Given the description of an element on the screen output the (x, y) to click on. 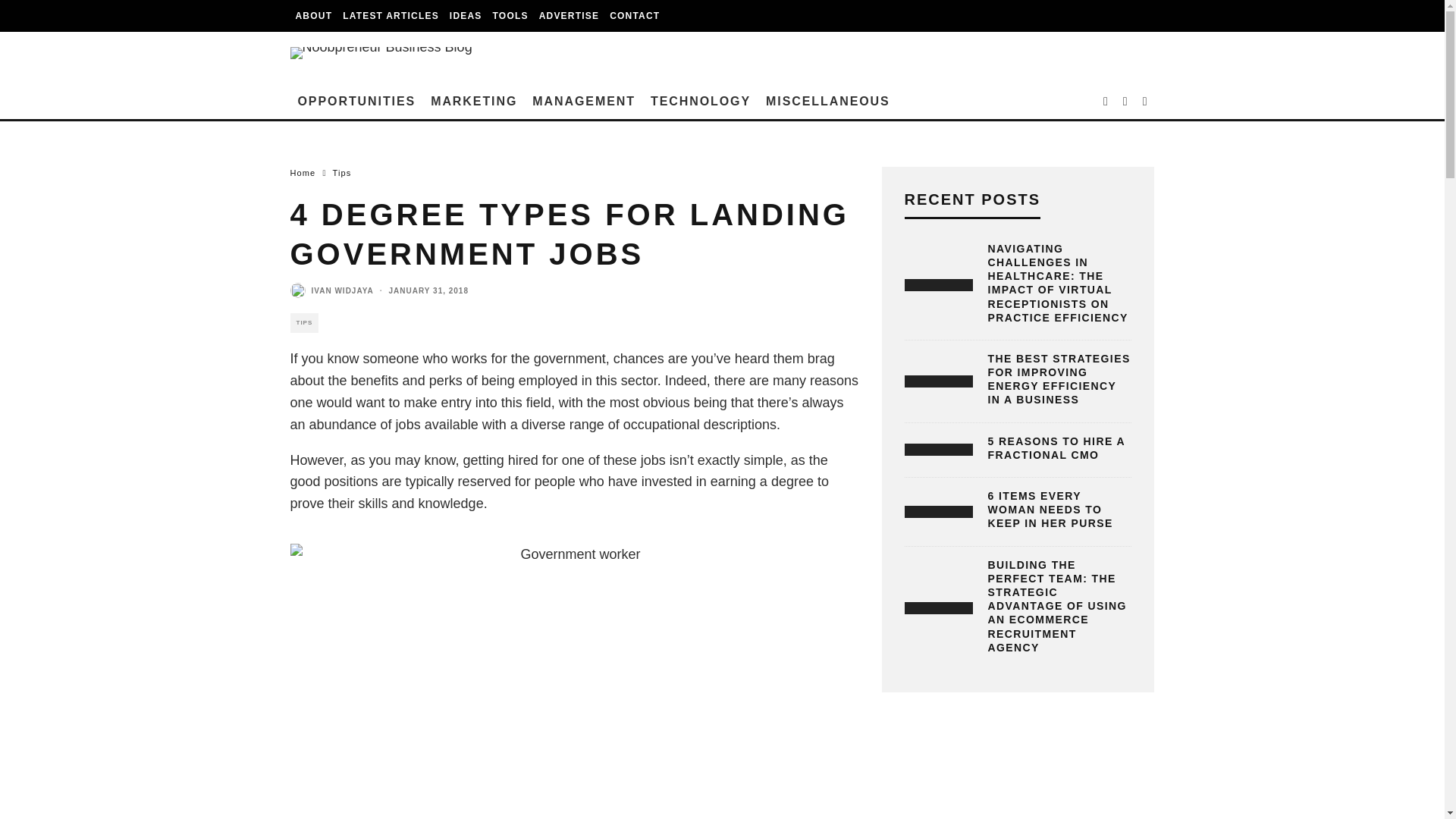
Business Opportunities (356, 101)
Small Business Ideas (465, 15)
MARKETING (473, 101)
Business Management (583, 101)
Other Business News and Tips (828, 101)
CONTACT (634, 15)
ABOUT (313, 15)
OPPORTUNITIES (356, 101)
ADVERTISE (569, 15)
IDEAS (465, 15)
